Given the description of an element on the screen output the (x, y) to click on. 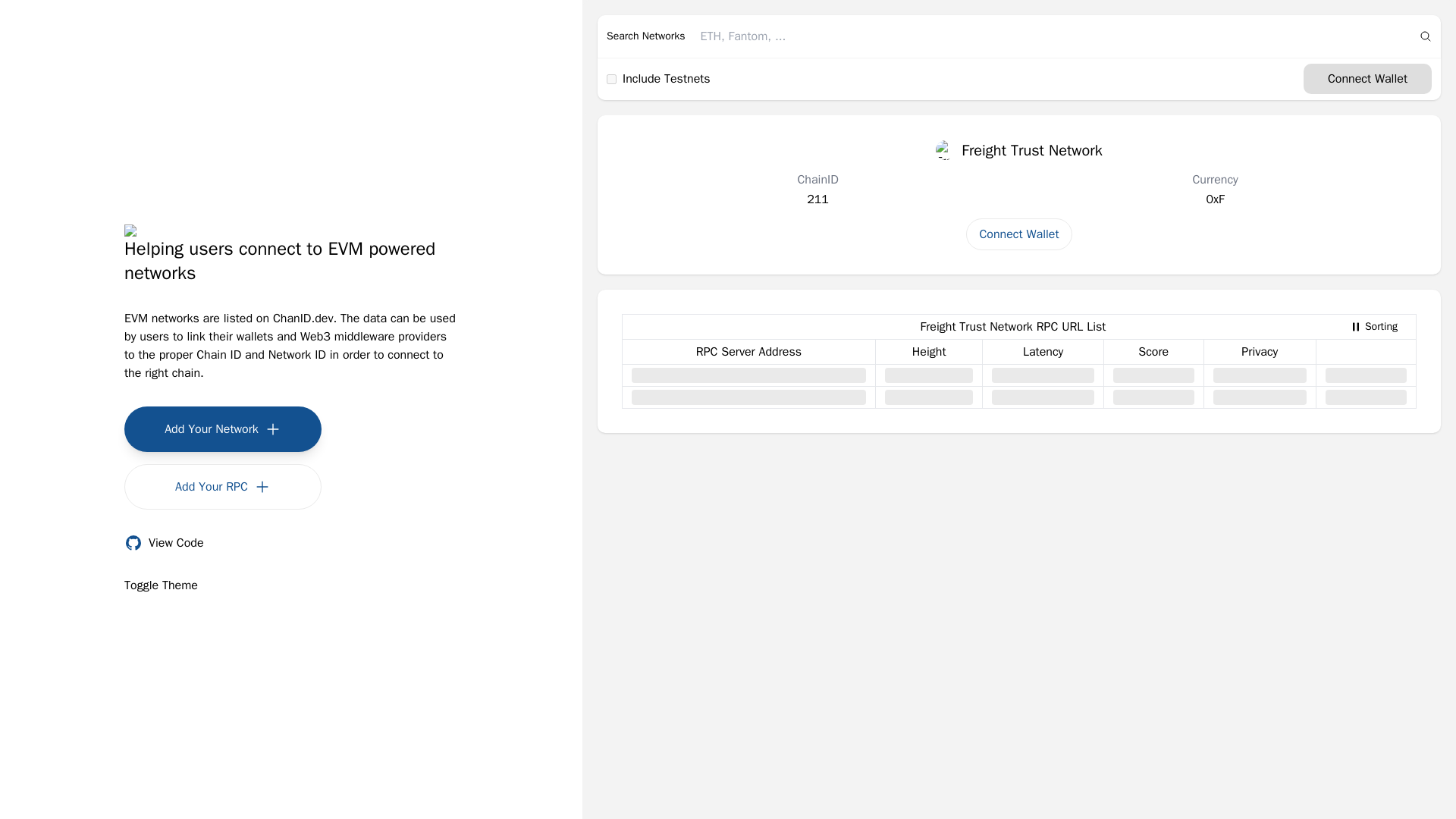
Toggle Theme (160, 585)
View Code (163, 542)
Connect Wallet (1373, 326)
Add Your Network (1018, 234)
Add Your RPC (222, 429)
Freight Trust Network (222, 486)
on (1019, 149)
Connect Wallet (611, 79)
